Given the description of an element on the screen output the (x, y) to click on. 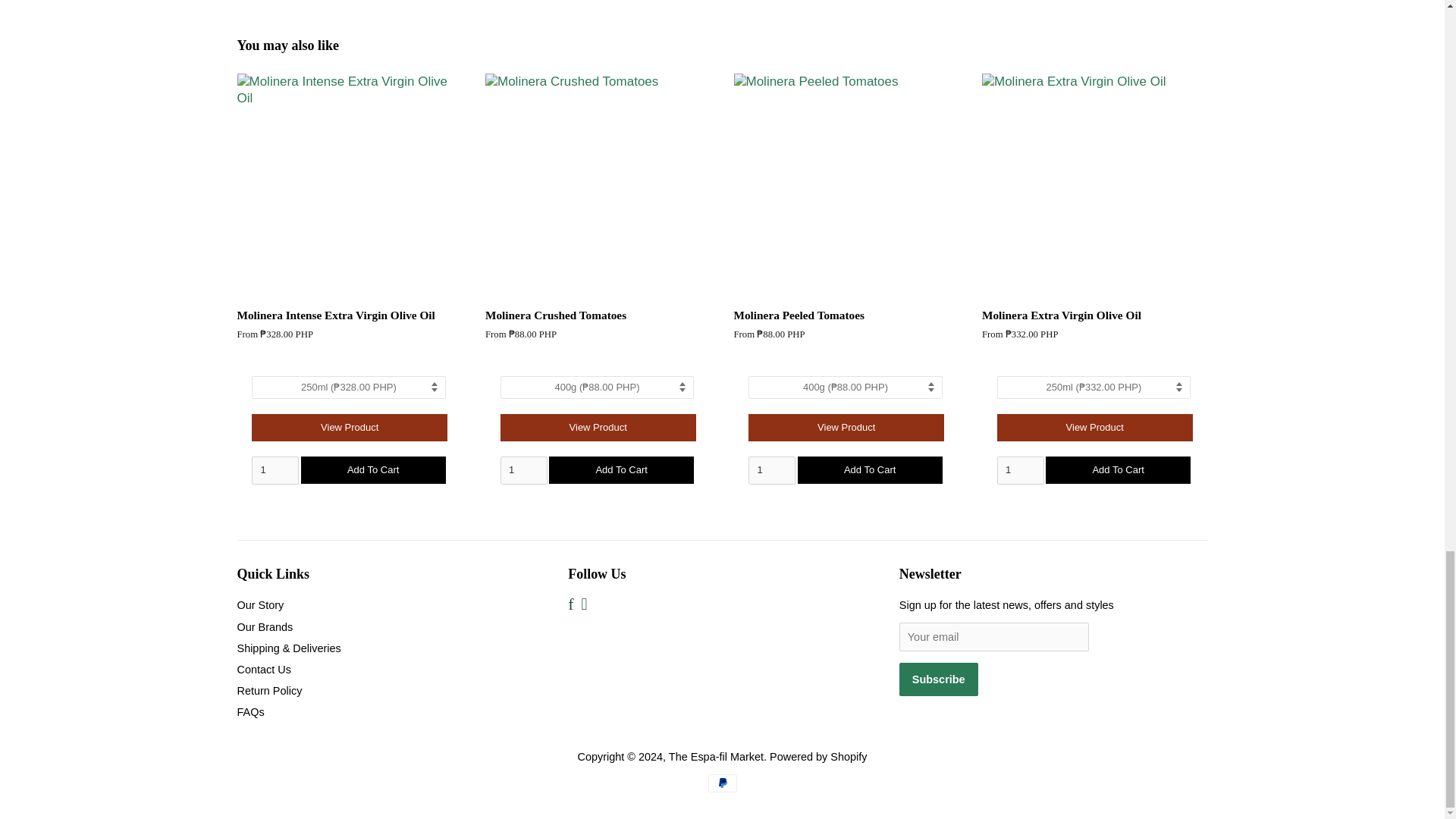
1 (274, 470)
PayPal (721, 782)
Subscribe (938, 679)
The Espa-fil Market on Facebook (570, 605)
1 (523, 470)
The Espa-fil Market on Instagram (583, 605)
1 (1020, 470)
1 (771, 470)
